Given the description of an element on the screen output the (x, y) to click on. 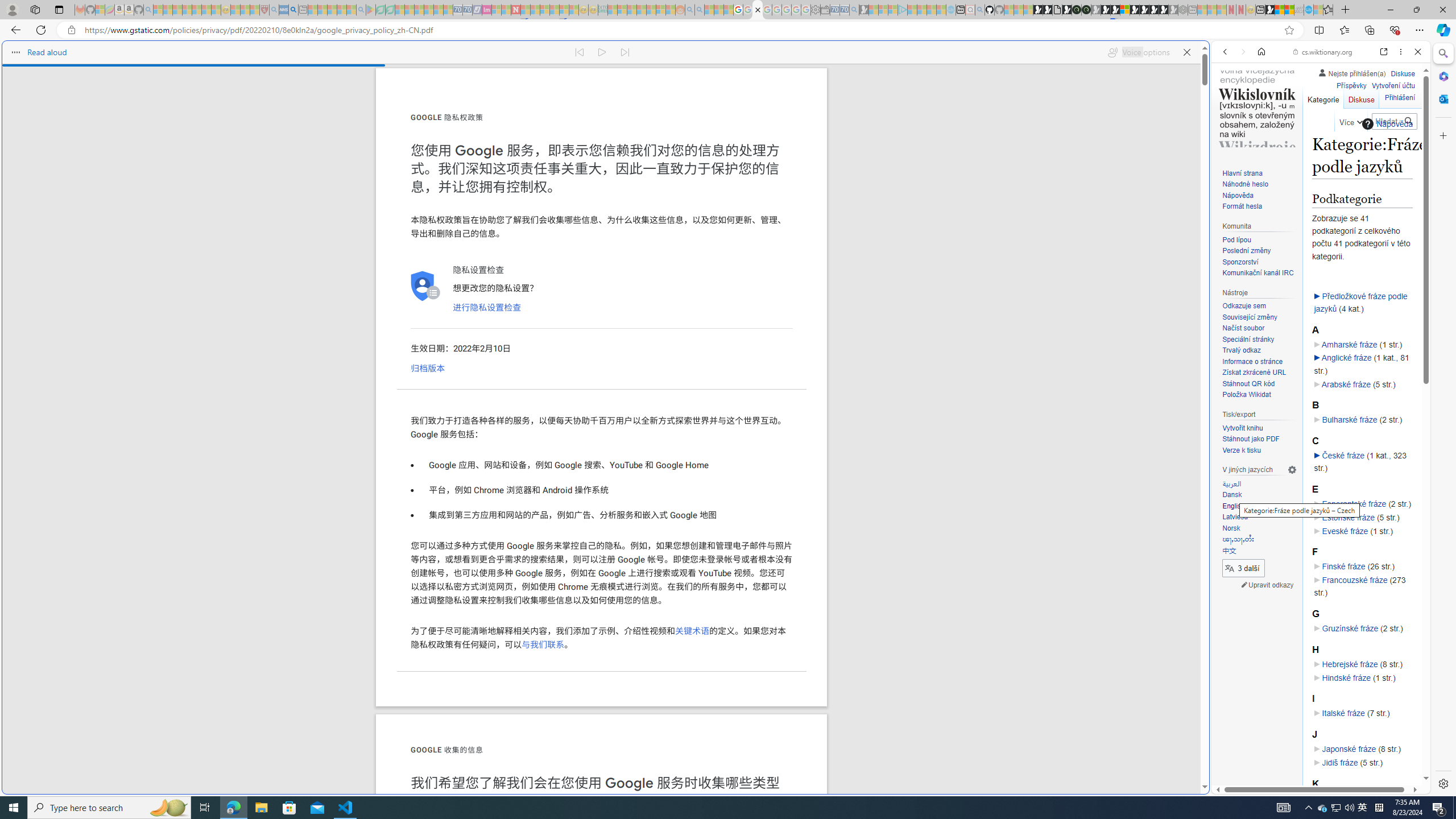
Web scope (1230, 102)
Search Filter, Search Tools (1350, 129)
